Given the description of an element on the screen output the (x, y) to click on. 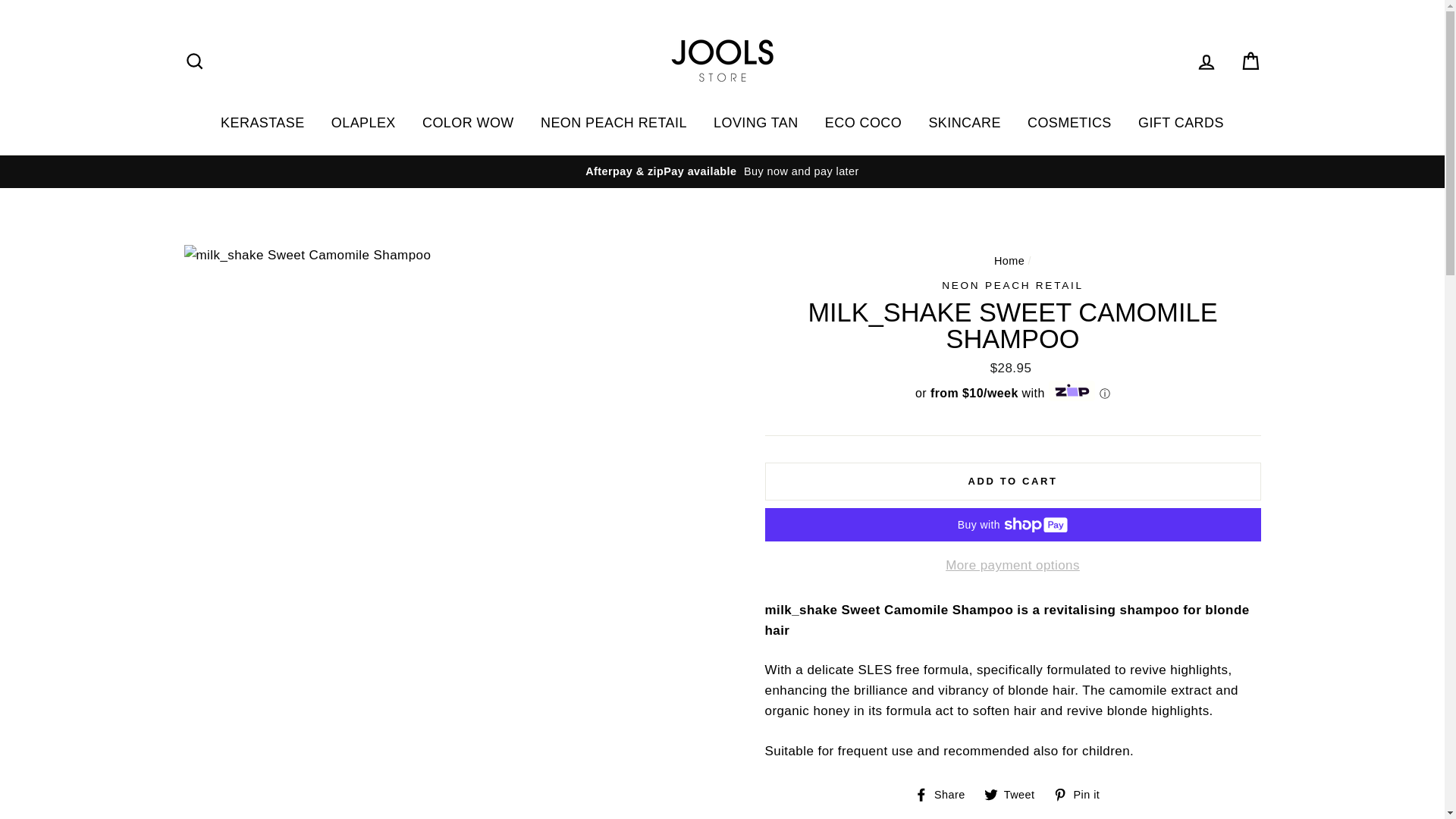
Share on Facebook (945, 794)
Back to the frontpage (1009, 260)
Pin on Pinterest (1081, 794)
Tweet on Twitter (1015, 794)
